Given the description of an element on the screen output the (x, y) to click on. 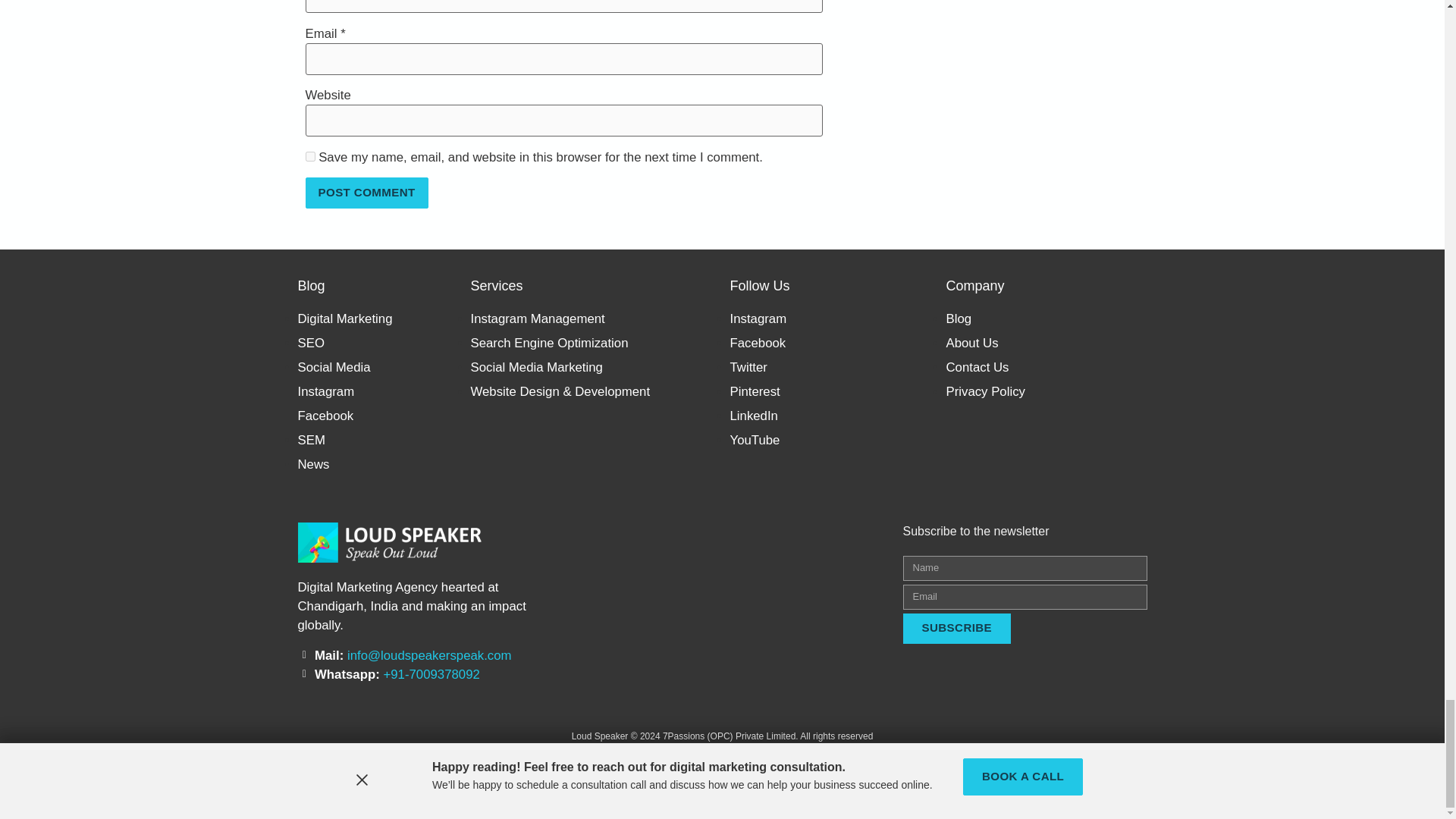
yes (309, 156)
Post Comment (366, 192)
